Given the description of an element on the screen output the (x, y) to click on. 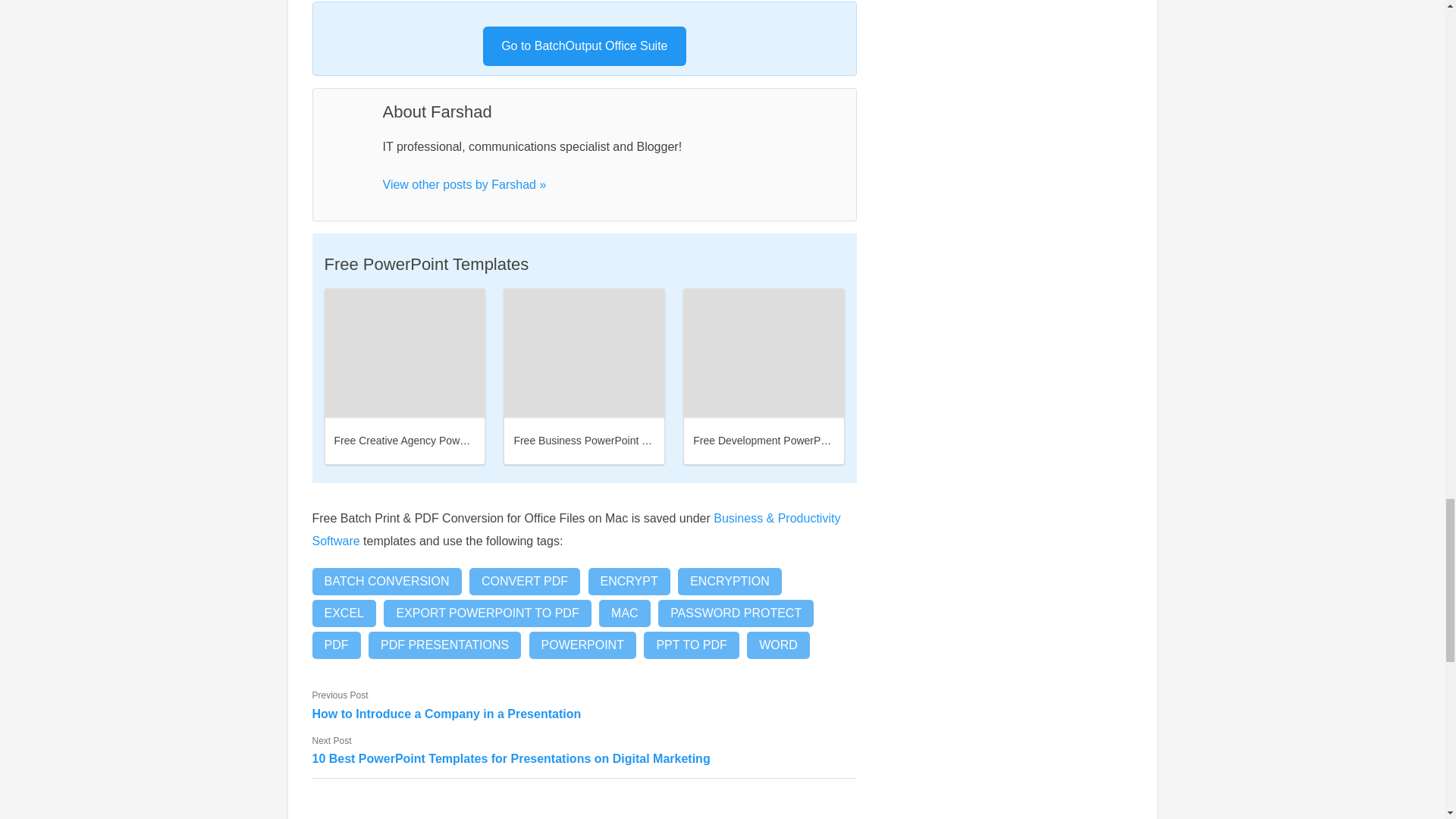
Free Development PowerPoint Template (788, 440)
WORD (777, 645)
How to Introduce a Company in a Presentation (585, 713)
Go to BatchOutput Office Suite (584, 45)
Free Creative Agency PowerPoint template (435, 440)
ENCRYPTION (729, 581)
PPT TO PDF (690, 645)
MAC (624, 613)
Free Business PowerPoint Template (598, 440)
EXCEL (344, 613)
ENCRYPT (628, 581)
POWERPOINT (582, 645)
BATCH CONVERSION (387, 581)
CONVERT PDF (523, 581)
Free Creative Agency PowerPoint template (404, 352)
